Given the description of an element on the screen output the (x, y) to click on. 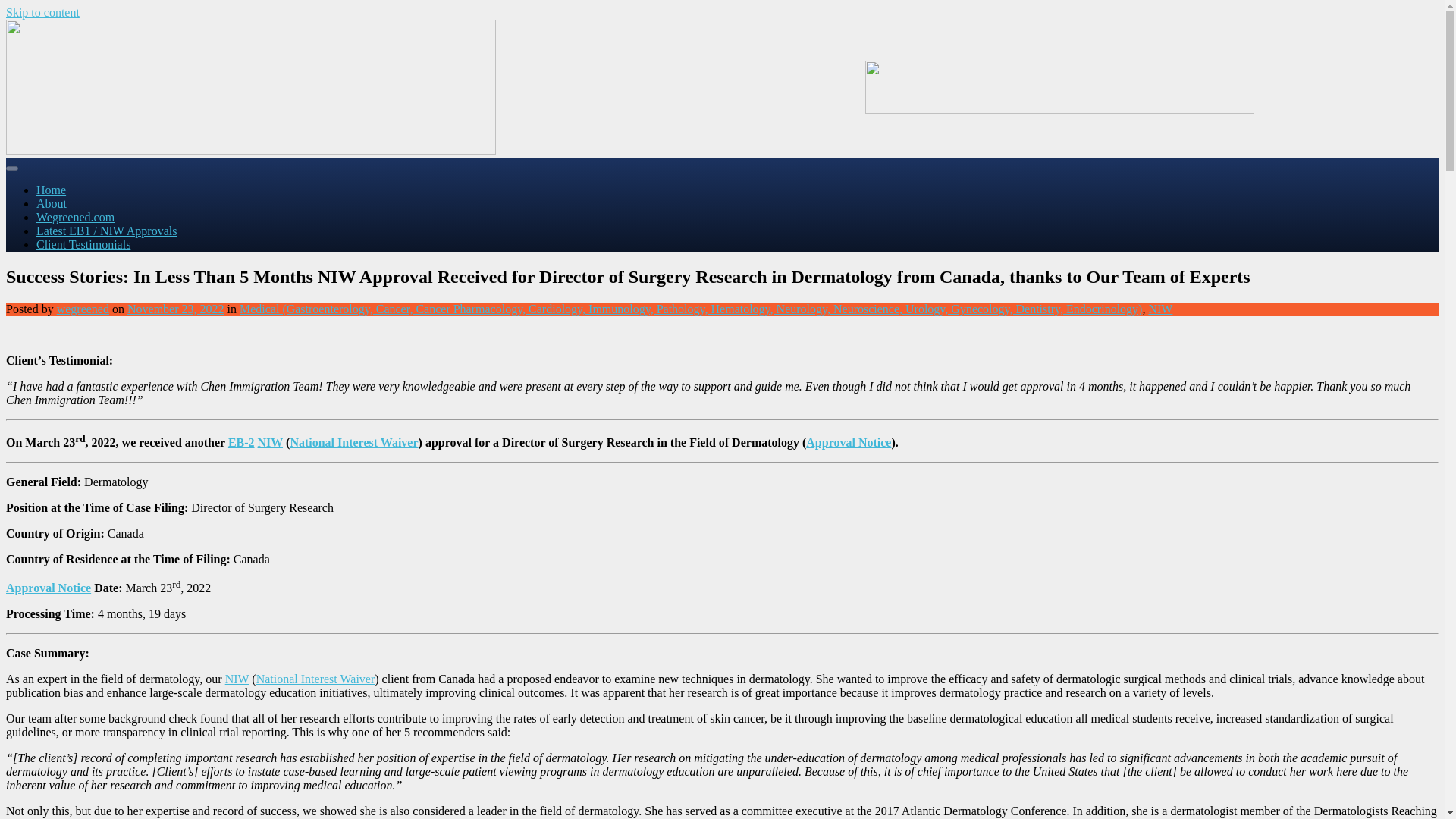
NIW (236, 678)
Home (50, 189)
NIW (270, 441)
About (51, 203)
National Interest Waiver (353, 441)
wegreened (82, 308)
Skip to content (42, 11)
NIW (1160, 308)
Wegreened.com (75, 216)
Client Testimonials (83, 244)
